Given the description of an element on the screen output the (x, y) to click on. 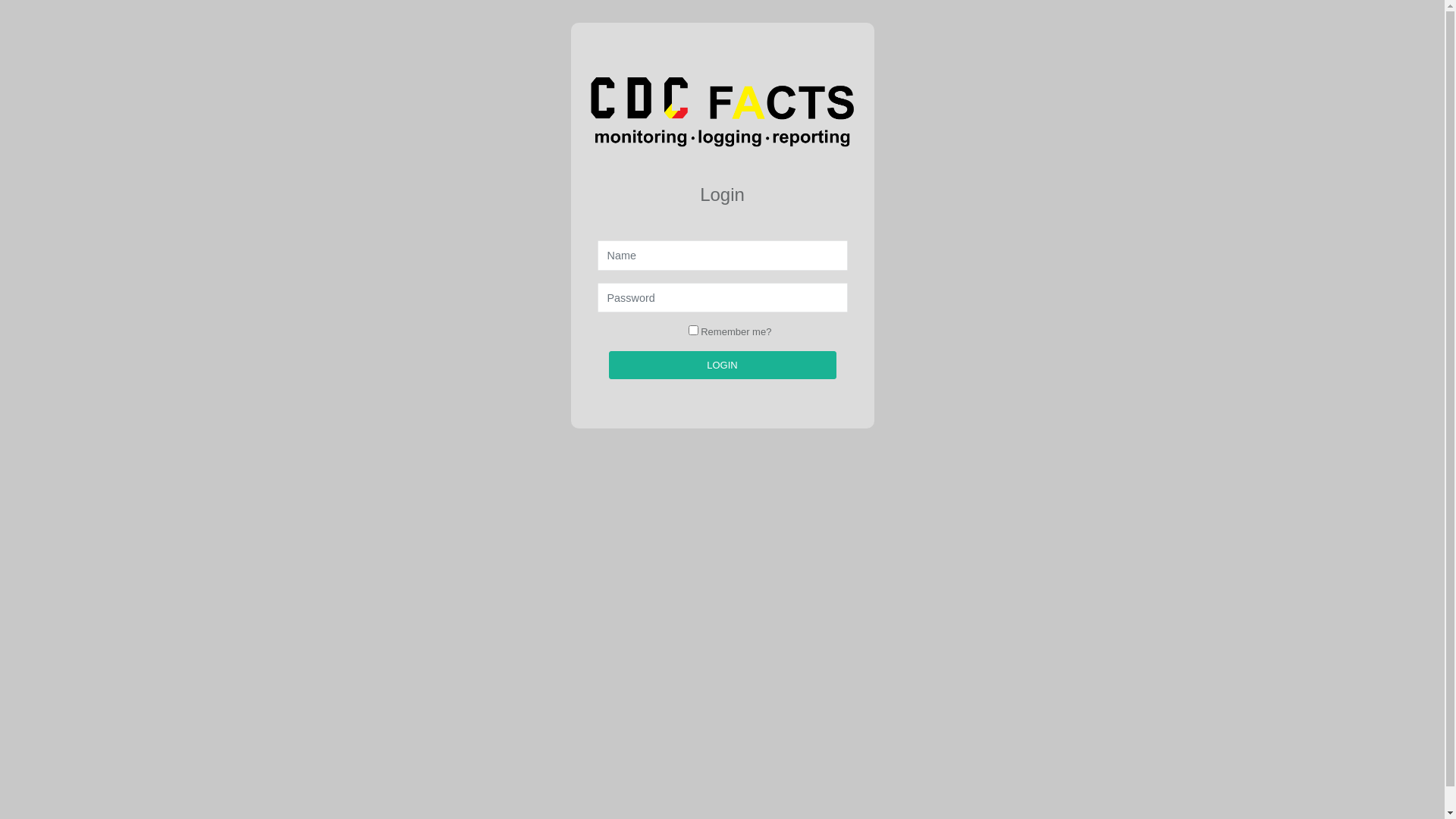
LOGIN Element type: text (721, 365)
